Given the description of an element on the screen output the (x, y) to click on. 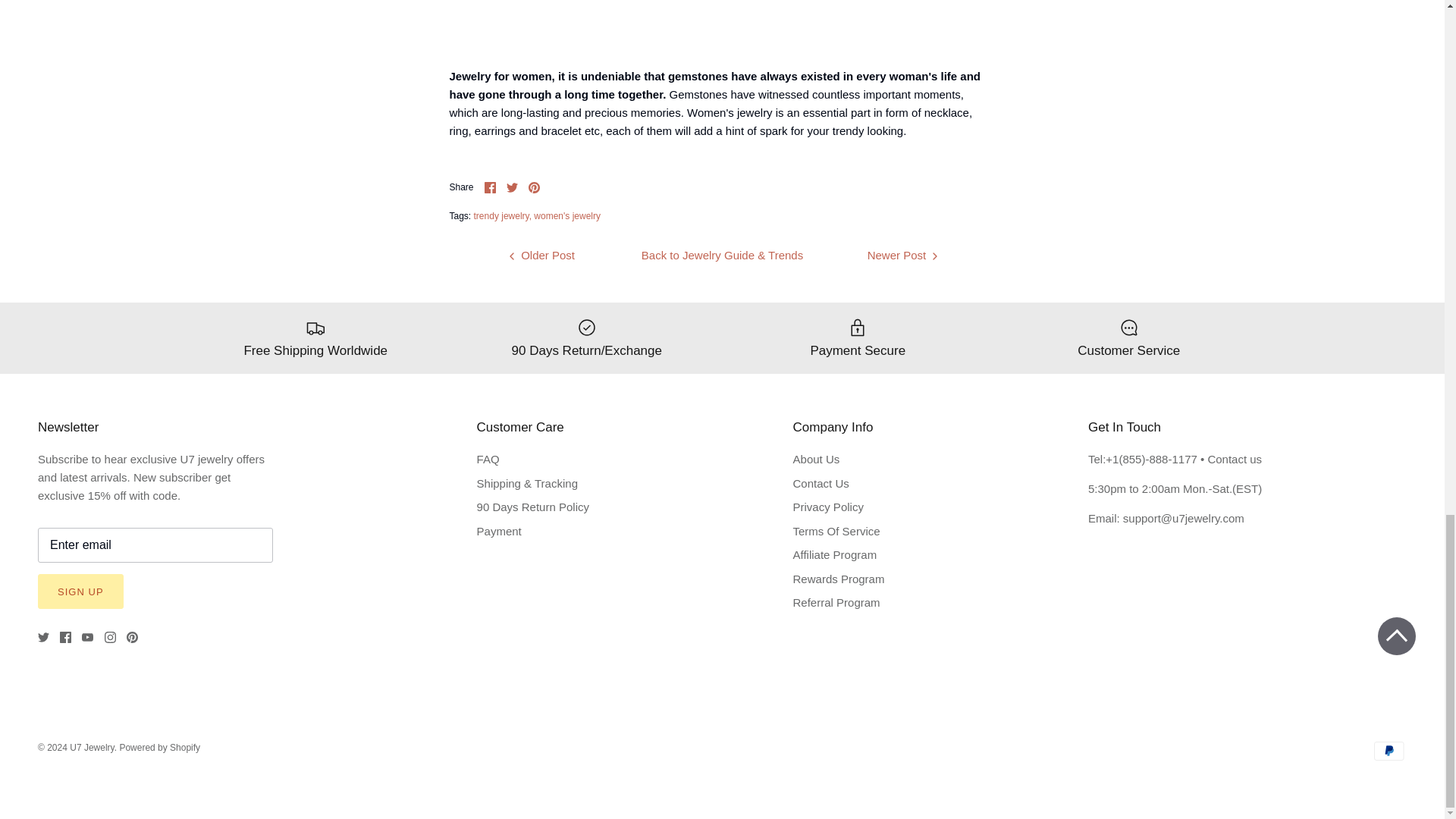
PayPal (1388, 751)
Right (934, 256)
Twitter (43, 636)
Facebook (490, 187)
Facebook (65, 636)
Pinterest (534, 187)
Show articles tagged women's jewelry (566, 215)
Left (511, 256)
Youtube (87, 636)
Pinterest (132, 636)
Show articles tagged trendy jewelry (502, 215)
Instagram (110, 636)
Twitter (512, 187)
